Given the description of an element on the screen output the (x, y) to click on. 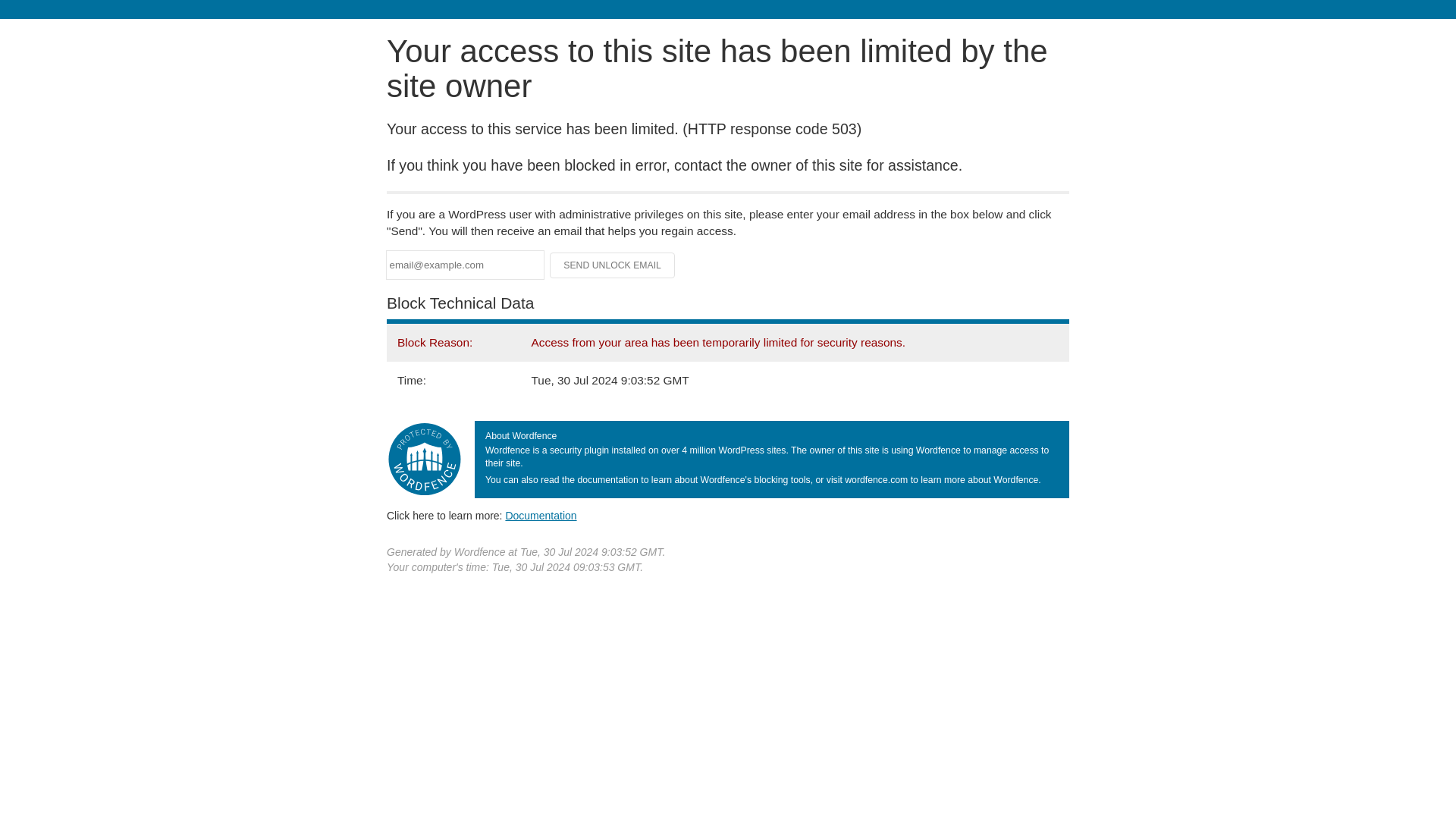
Documentation (540, 515)
Send Unlock Email (612, 265)
Send Unlock Email (612, 265)
